Given the description of an element on the screen output the (x, y) to click on. 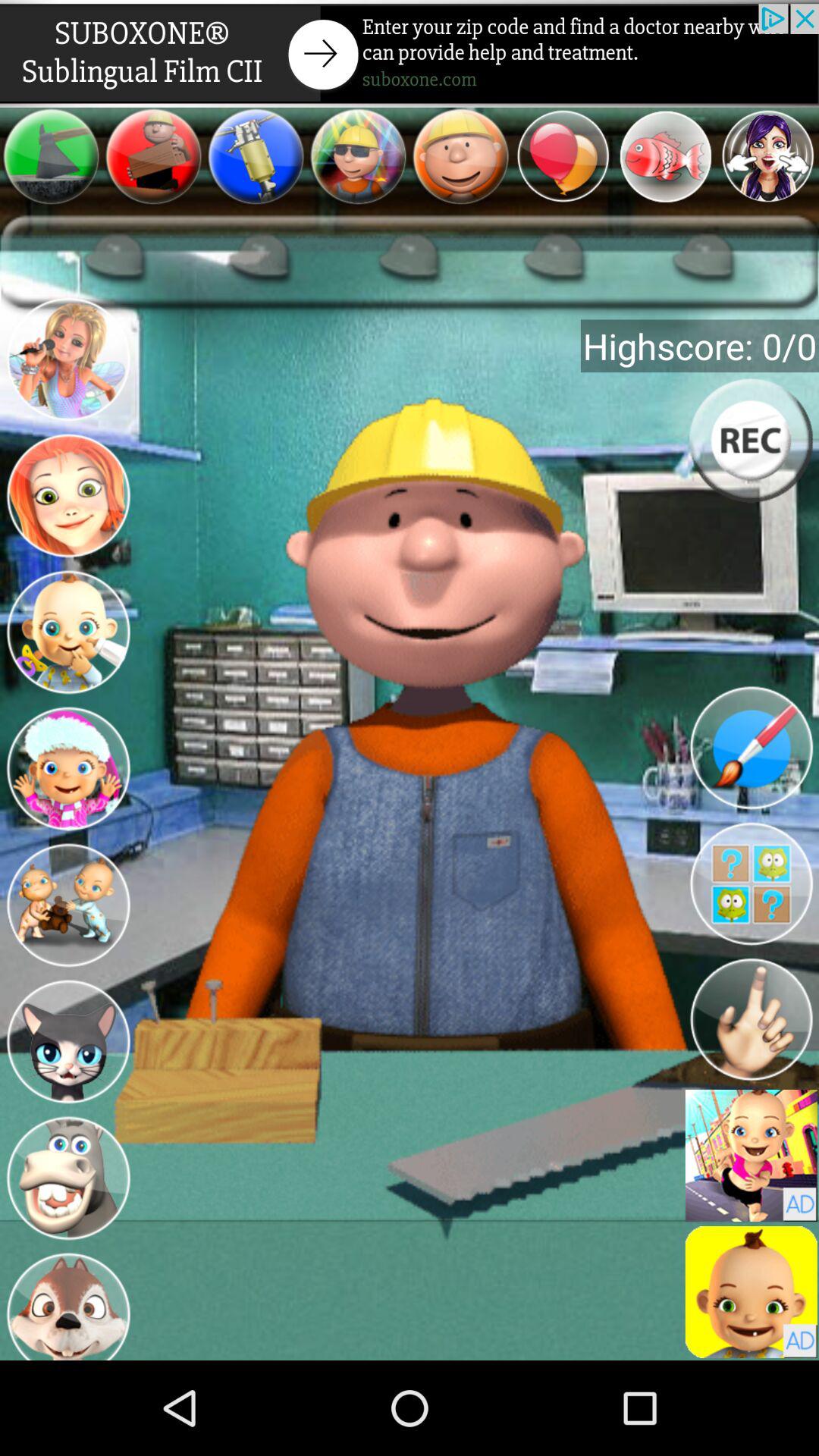
toggle a select option (68, 361)
